Given the description of an element on the screen output the (x, y) to click on. 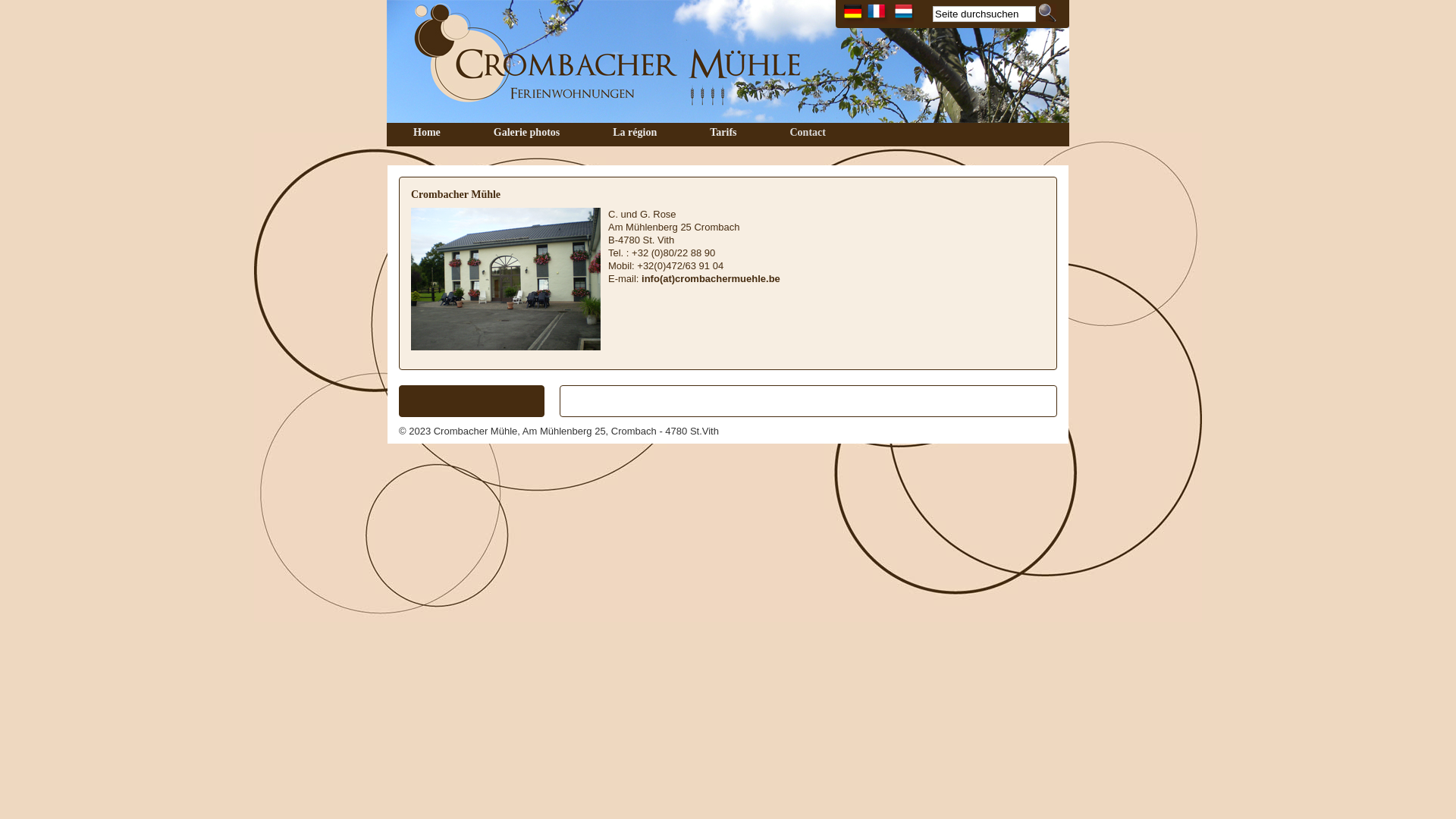
Contact Element type: text (806, 132)
Galerie photos Element type: text (526, 132)
Home Element type: text (426, 132)
nl Element type: text (901, 13)
de Element type: text (854, 13)
Tarifs Element type: text (722, 132)
fr Element type: text (878, 13)
info(at)crombachermuehle.be Element type: text (710, 278)
